Given the description of an element on the screen output the (x, y) to click on. 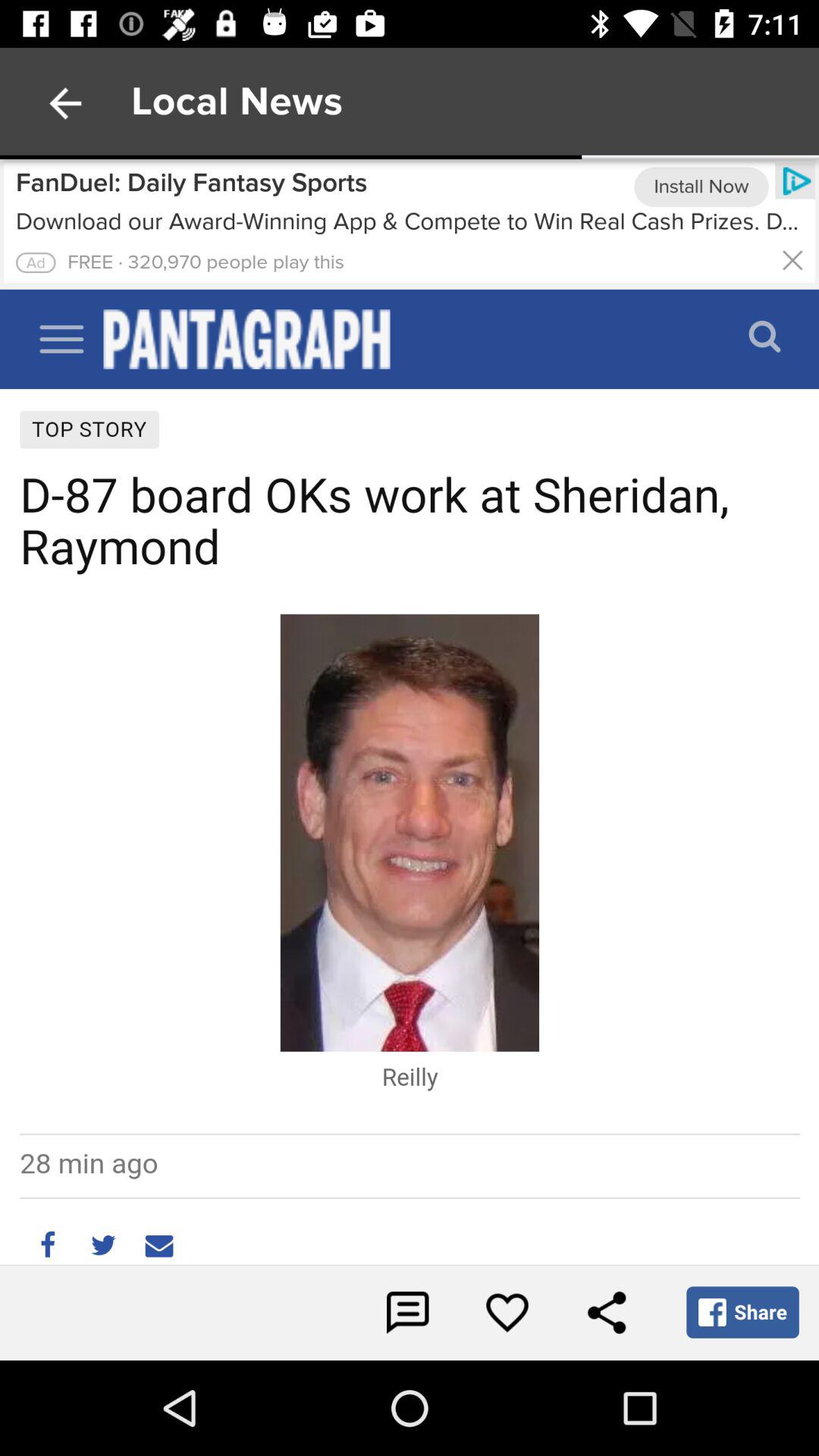
favorites it (506, 1312)
